Given the description of an element on the screen output the (x, y) to click on. 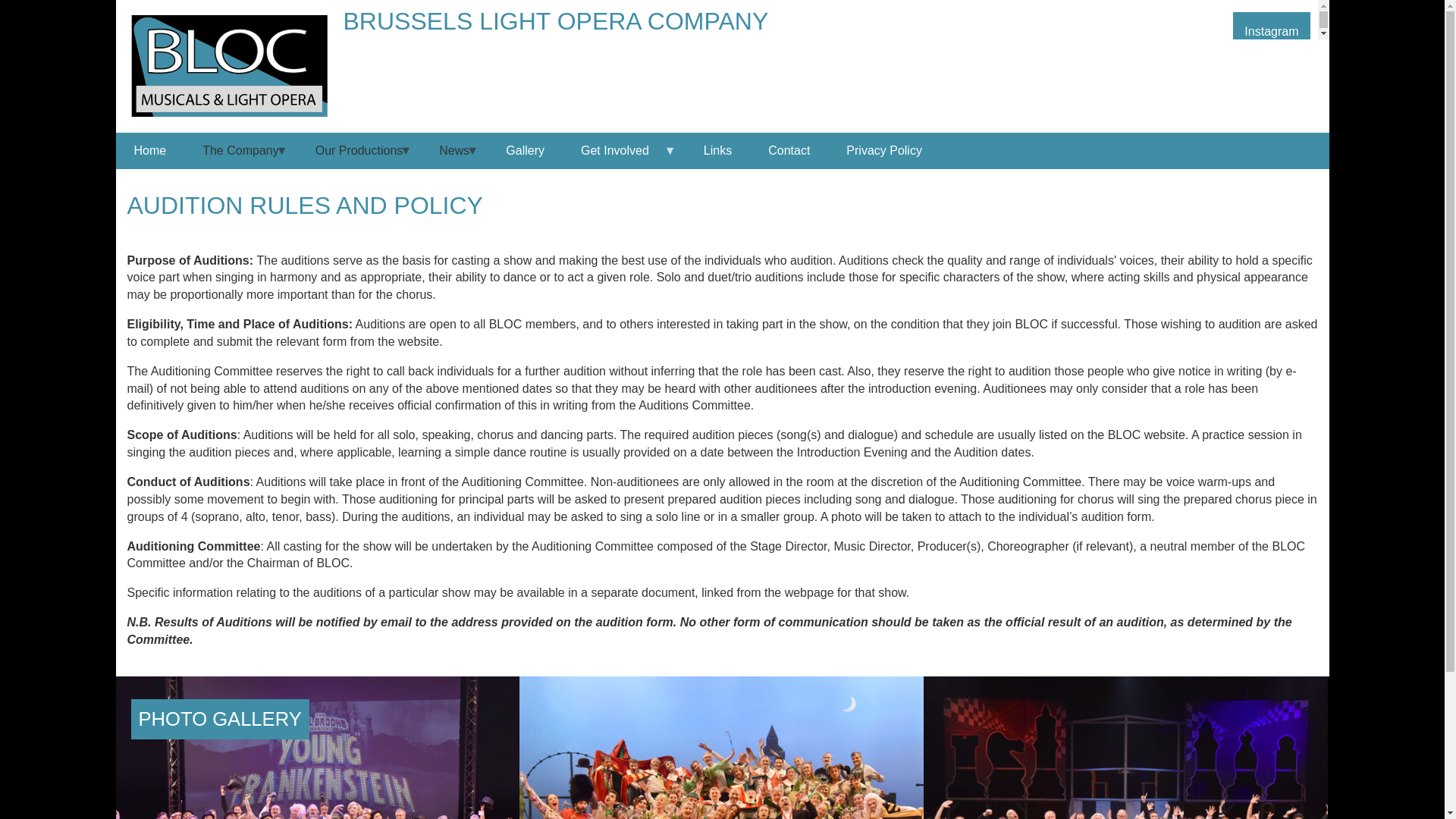
Instagram (1270, 25)
Other Brussels AmDram Companies (717, 150)
Gallery (524, 150)
Instagram (1270, 25)
Privacy Policy (884, 150)
PHOTO GALLERY (219, 719)
Facebook (1206, 25)
Links (717, 150)
Contact (788, 150)
Home (149, 150)
